Given the description of an element on the screen output the (x, y) to click on. 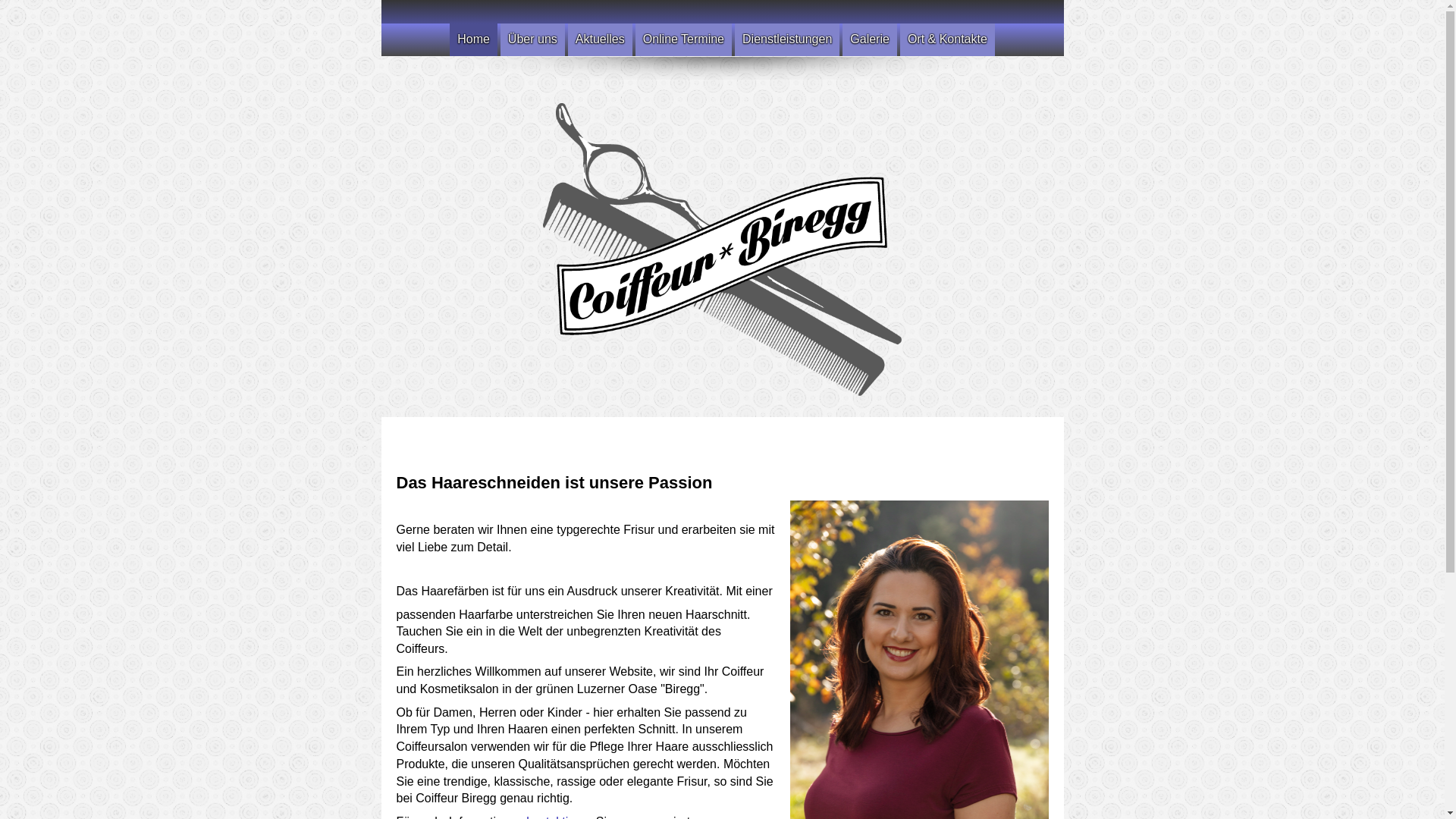
Aktuelles Element type: text (599, 39)
Home Element type: text (473, 39)
Online Termine Element type: text (683, 39)
Galerie Element type: text (869, 39)
Ort & Kontakte Element type: text (947, 39)
Dienstleistungen Element type: text (786, 39)
